Given the description of an element on the screen output the (x, y) to click on. 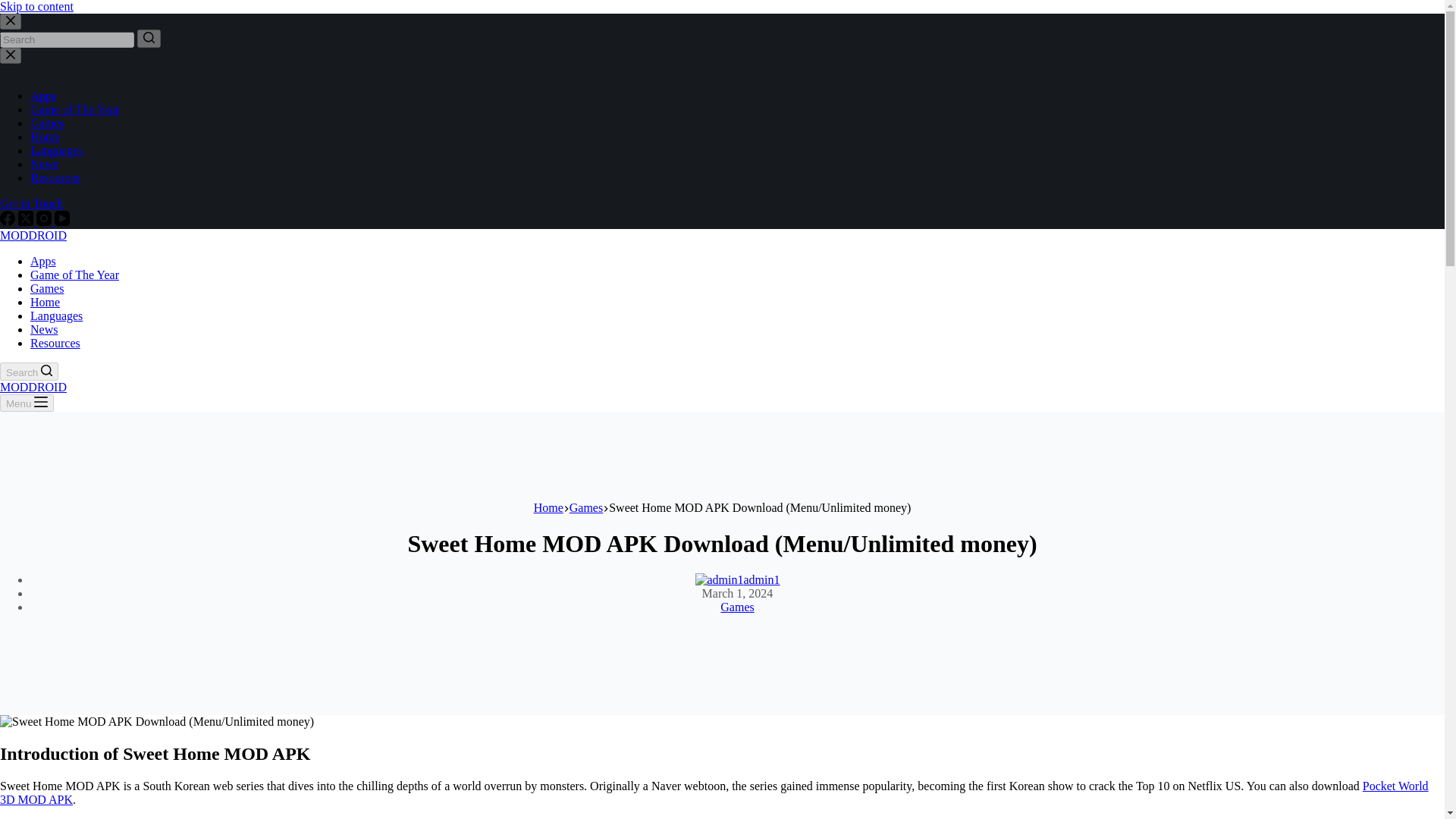
Apps (43, 260)
Games (585, 506)
Apps (43, 95)
Resources (55, 177)
Home (548, 506)
Languages (56, 315)
News (44, 164)
Game of The Year (74, 109)
Resources (55, 342)
Posts by admin1 (760, 579)
